Given the description of an element on the screen output the (x, y) to click on. 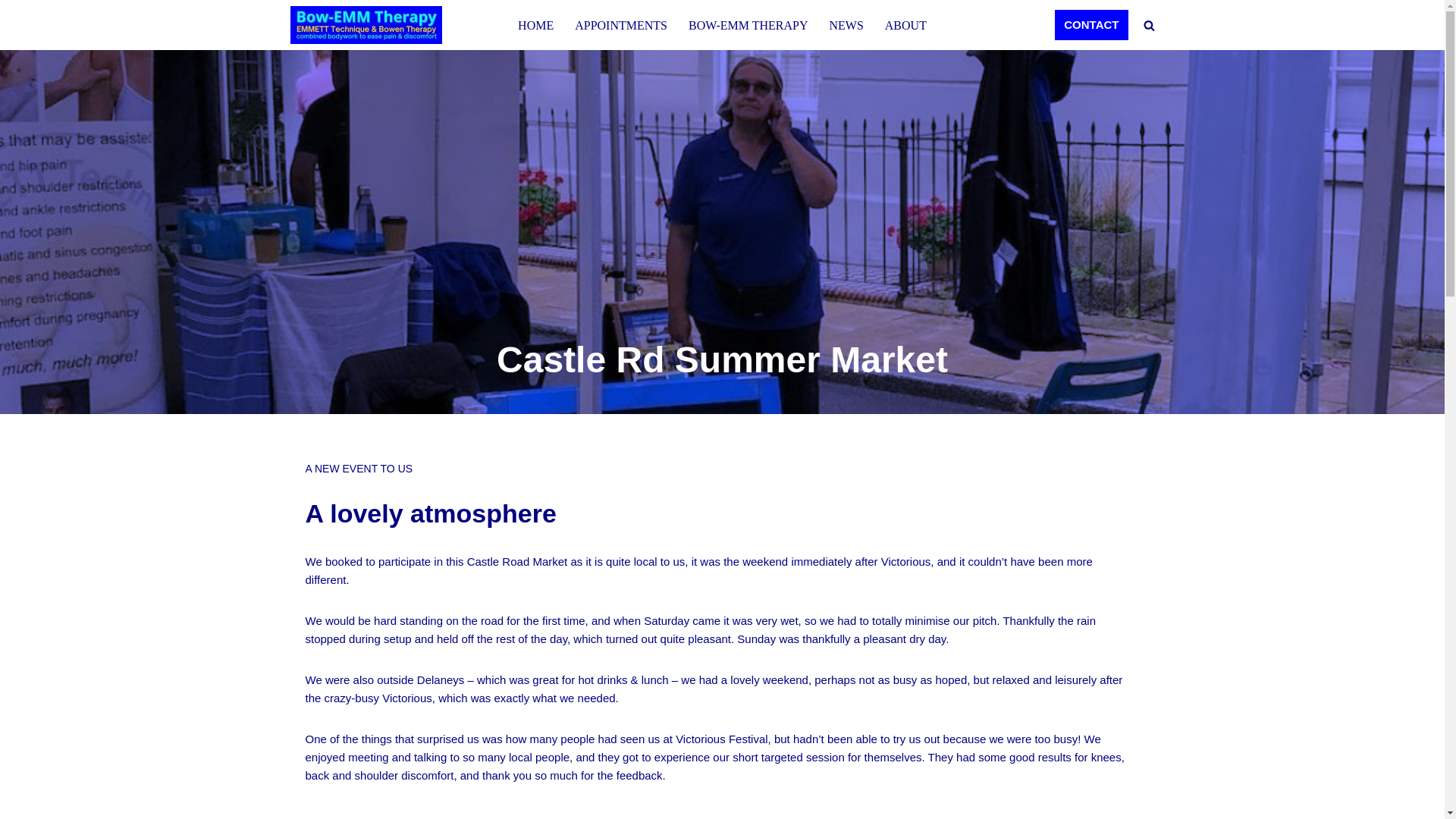
NEWS (845, 25)
Skip to content (11, 31)
BOW-EMM THERAPY (748, 25)
ABOUT (905, 25)
HOME (535, 25)
CONTACT (1090, 24)
APPOINTMENTS (620, 25)
